Given the description of an element on the screen output the (x, y) to click on. 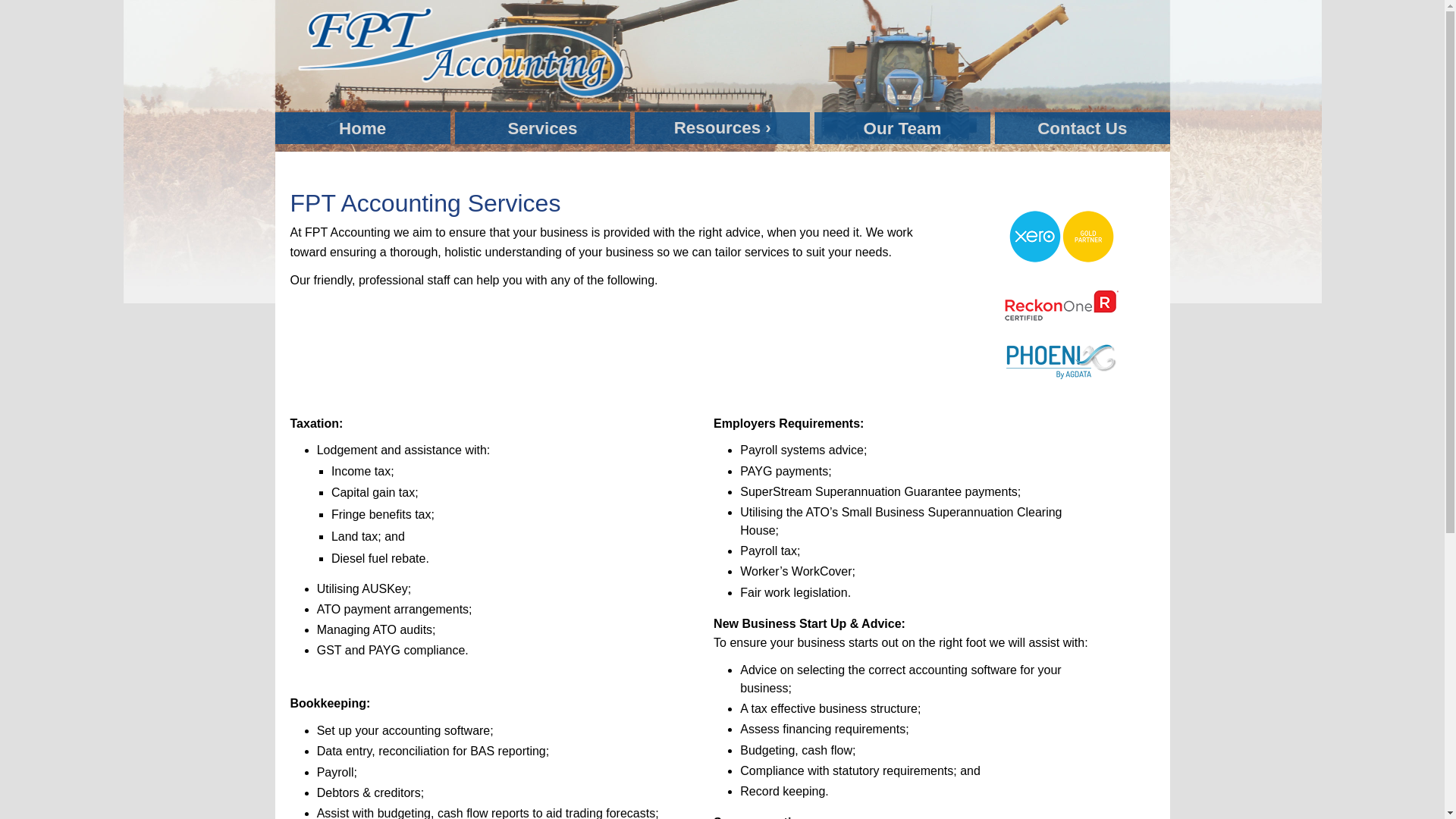
Our Team Element type: text (901, 128)
Services Element type: text (542, 128)
Home Element type: text (362, 128)
Contact Us Element type: text (1082, 128)
